Given the description of an element on the screen output the (x, y) to click on. 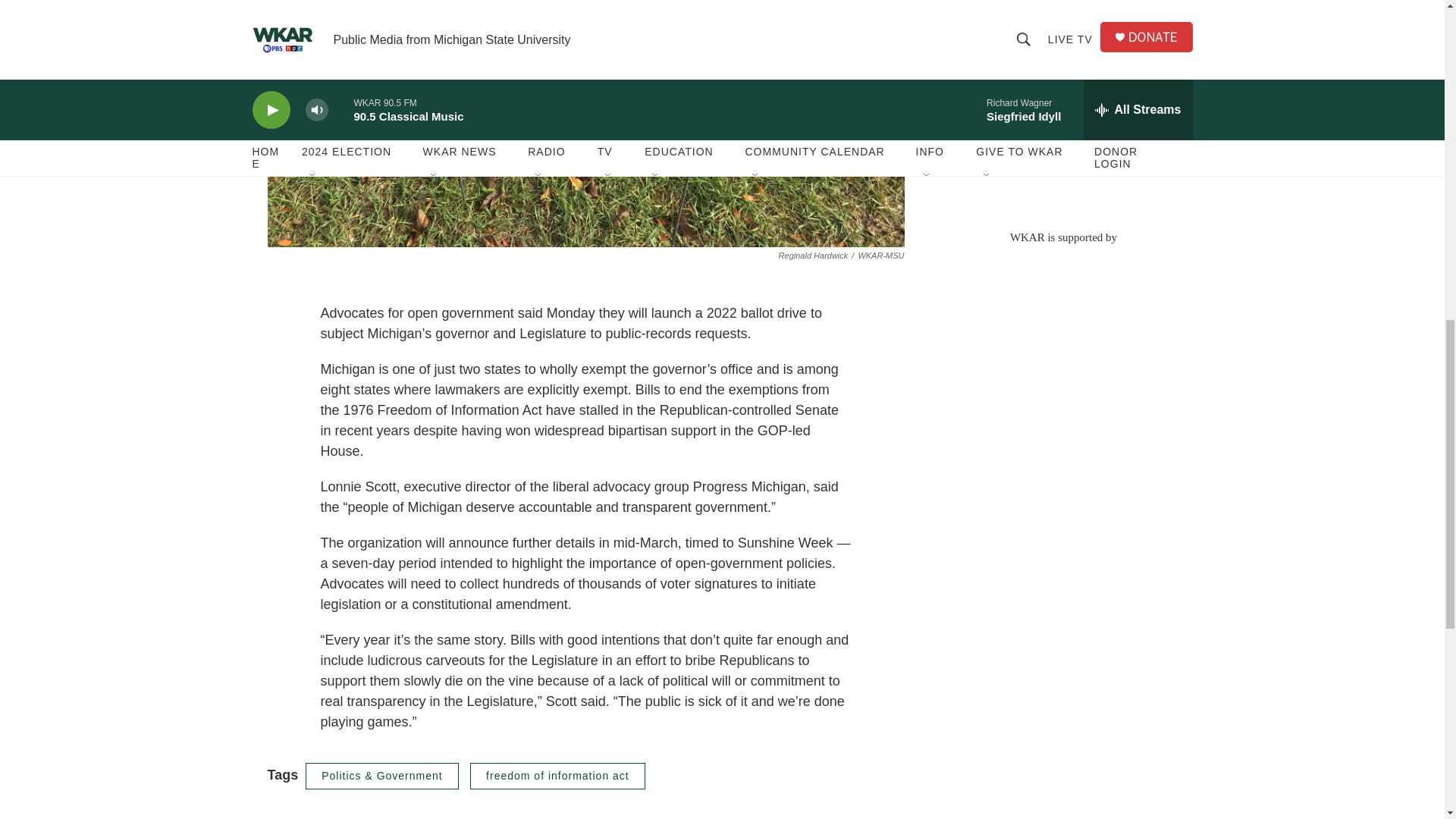
3rd party ad content (1062, 353)
3rd party ad content (1062, 105)
